Given the description of an element on the screen output the (x, y) to click on. 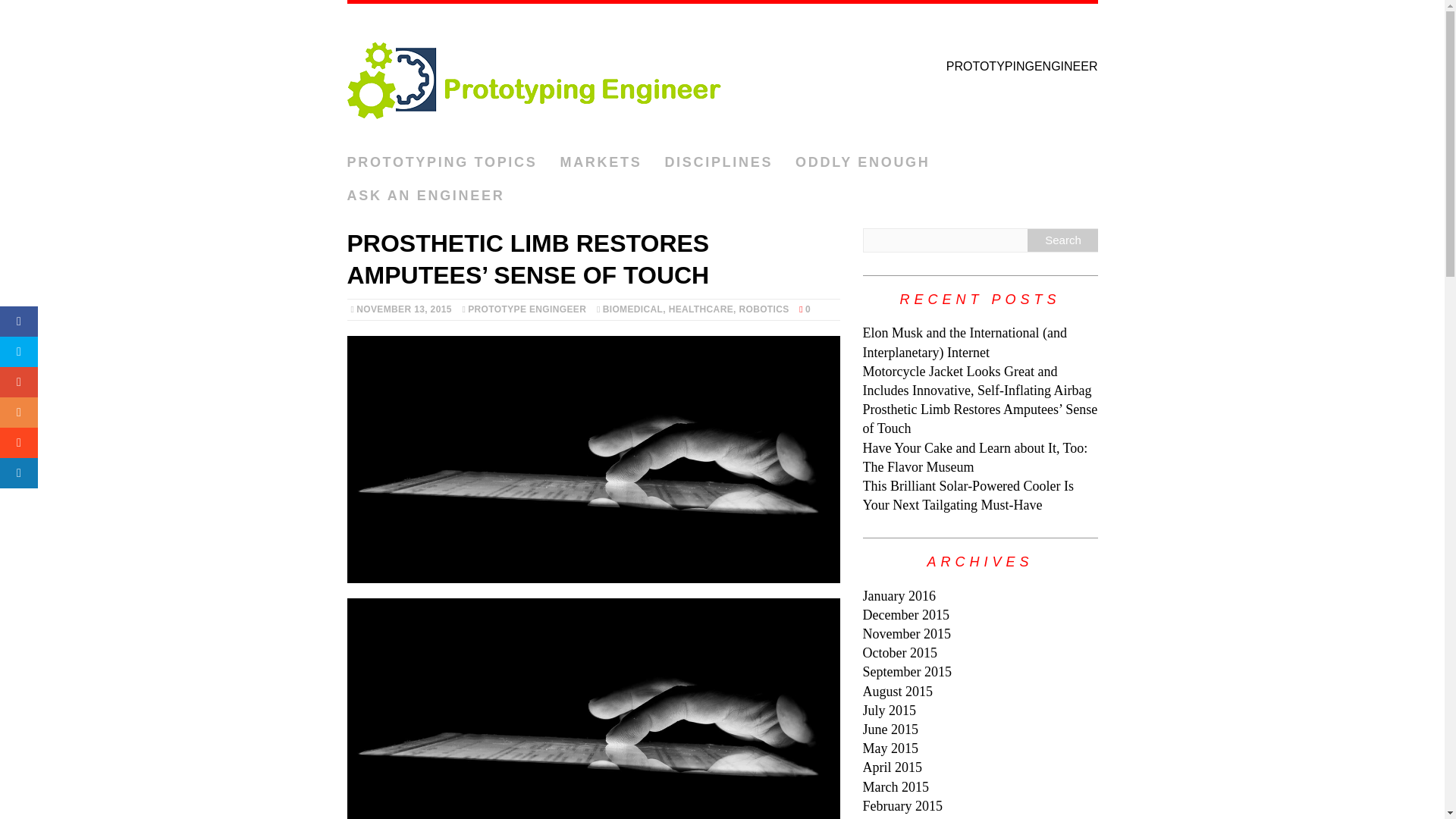
DISCIPLINES (718, 162)
ASK AN ENGINEER (426, 195)
PrototypingEngineer (722, 75)
HEALTHCARE (700, 308)
PROTOTYPING TOPICS (442, 162)
Search (1062, 240)
ROBOTICS (763, 308)
MARKETS (600, 162)
BIOMEDICAL (632, 308)
PROTOTYPINGENGINEER (722, 75)
